Given the description of an element on the screen output the (x, y) to click on. 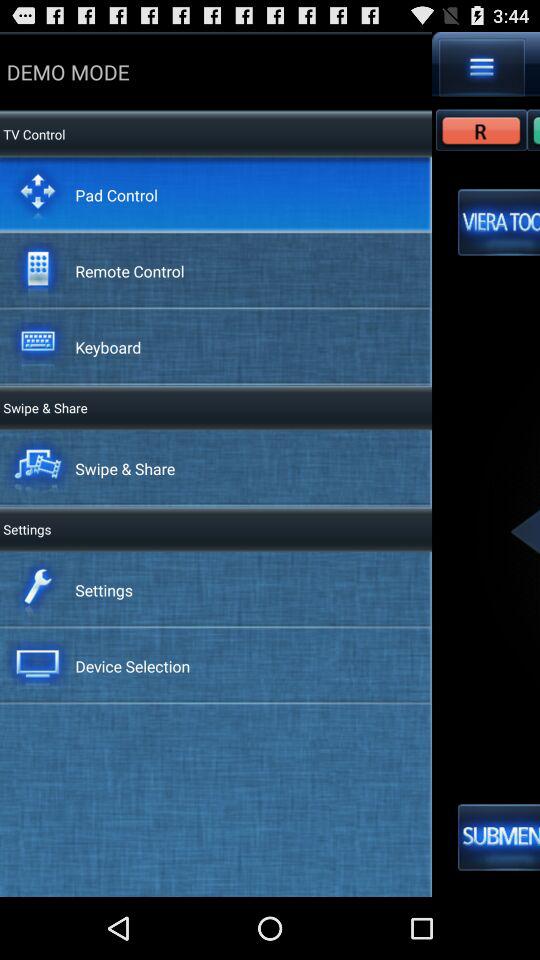
click here for menu options (481, 67)
